Given the description of an element on the screen output the (x, y) to click on. 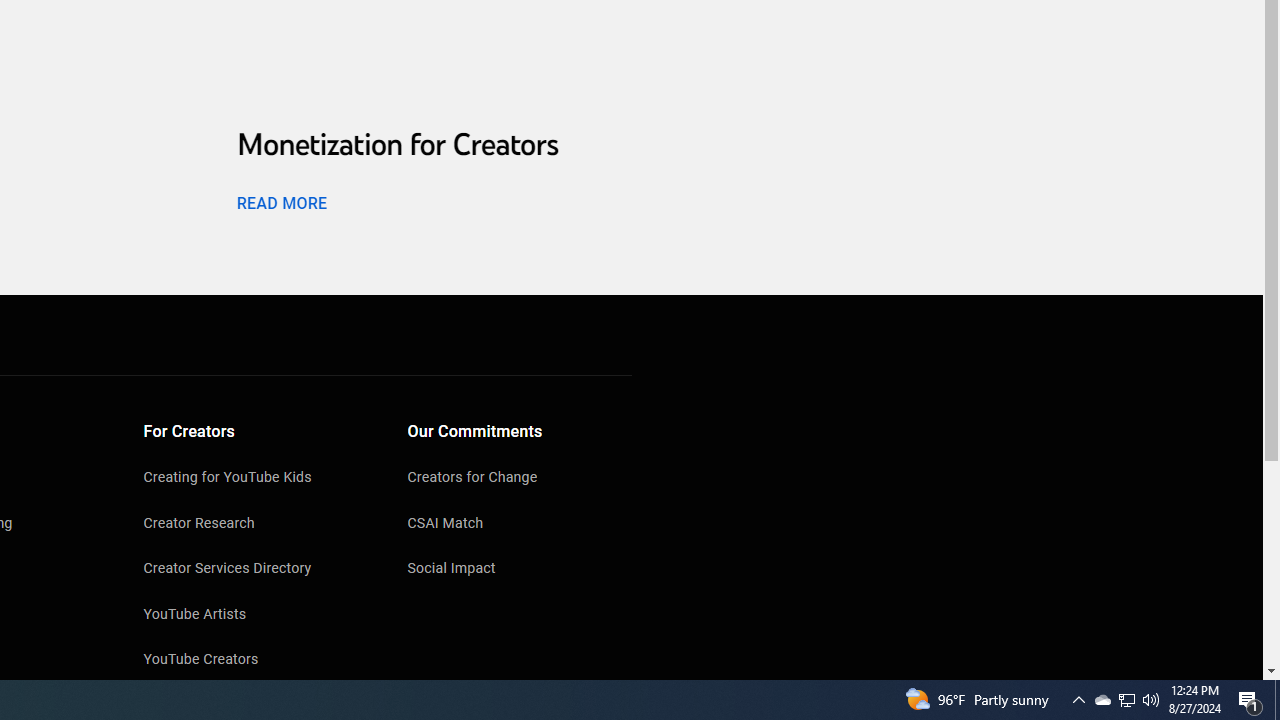
Creators for Change (519, 479)
Creator Research (255, 524)
Creator Services Directory (255, 570)
Social Impact (519, 570)
READ MORE (281, 202)
YouTube Artists (255, 616)
YouTube Creators (255, 660)
CSAI Match (519, 524)
Creating for YouTube Kids (255, 479)
